Given the description of an element on the screen output the (x, y) to click on. 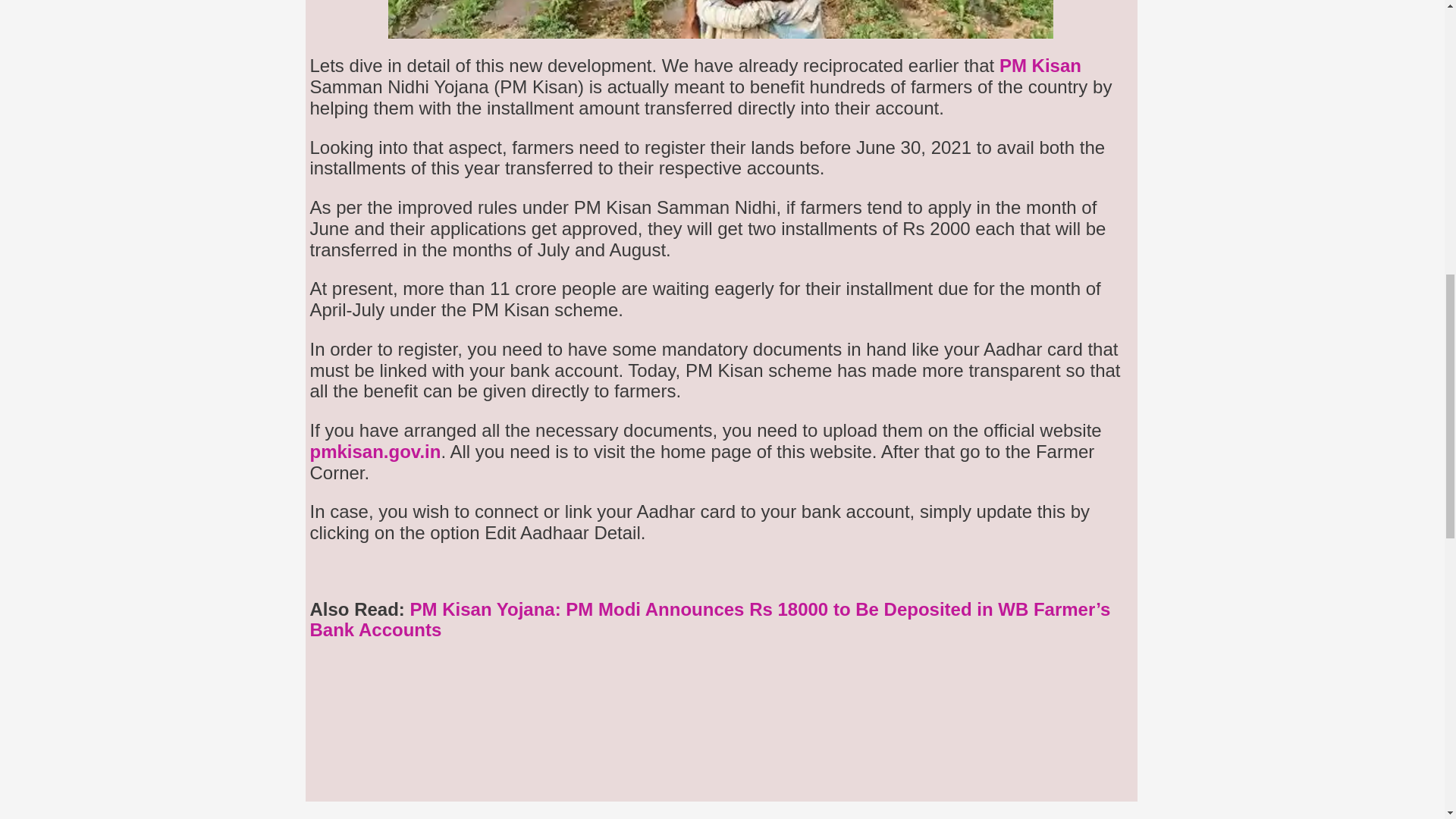
PM Kisan (1039, 65)
pmkisan.gov.in (374, 451)
